Given the description of an element on the screen output the (x, y) to click on. 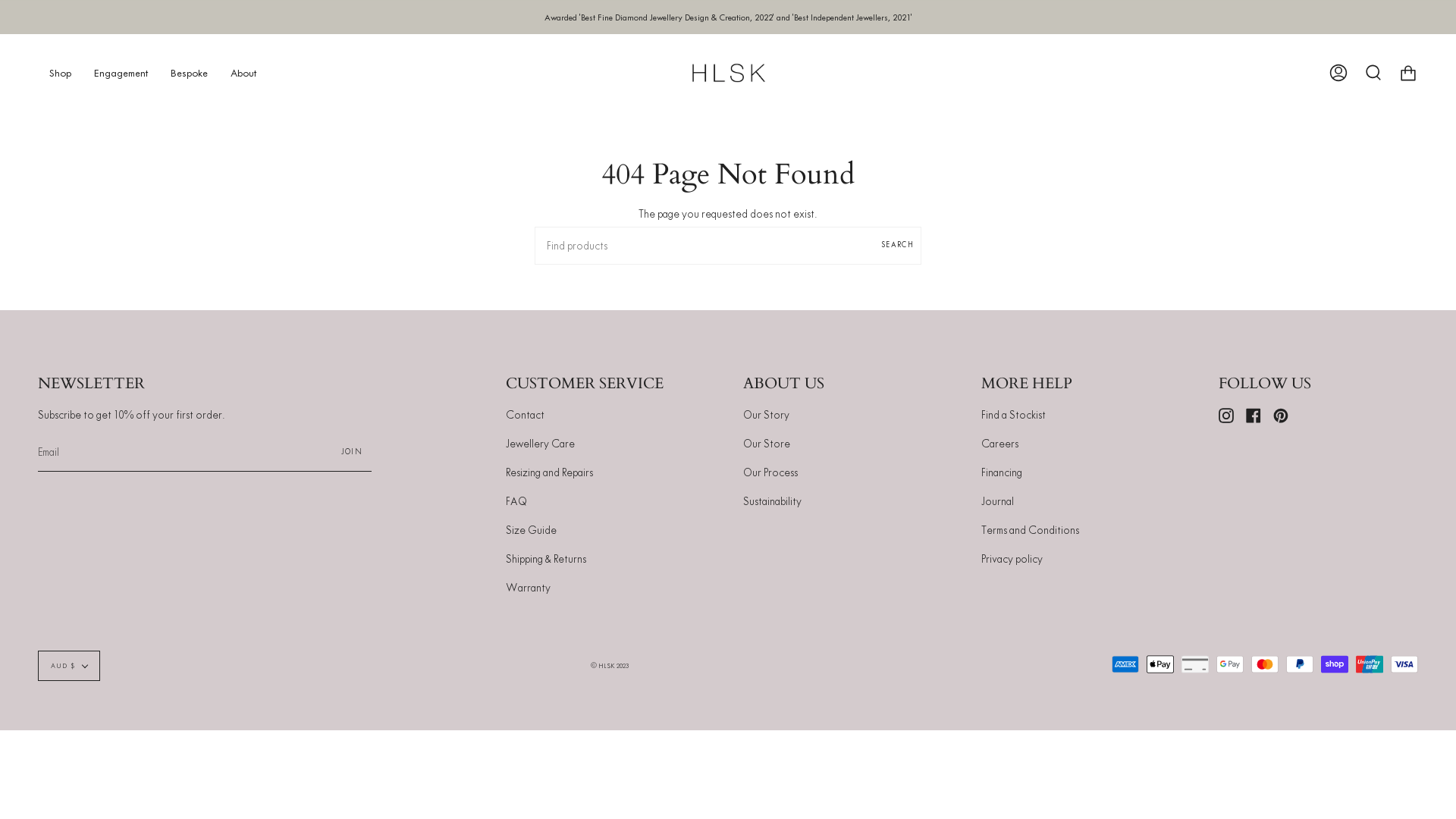
Our Store Element type: text (766, 443)
Terms and Conditions Element type: text (1030, 529)
Bespoke Element type: text (189, 72)
SEARCH Element type: text (897, 245)
Search Element type: text (1372, 72)
Instagram Element type: text (1225, 414)
AUD $ Element type: text (68, 665)
Facebook Element type: text (1253, 414)
Shop Element type: text (59, 72)
Size Guide Element type: text (530, 529)
Contact Element type: text (524, 414)
Our Process Element type: text (770, 472)
Engagement Element type: text (120, 72)
Cart Element type: text (1407, 72)
Financing Element type: text (1001, 472)
Warranty Element type: text (527, 587)
JOIN Element type: text (351, 451)
Journal Element type: text (997, 501)
Pinterest Element type: text (1280, 414)
Shipping & Returns Element type: text (545, 558)
Resizing and Repairs Element type: text (549, 472)
FAQ Element type: text (516, 501)
Careers Element type: text (999, 443)
Our Story Element type: text (766, 414)
Find a Stockist Element type: text (1013, 414)
Sustainability Element type: text (772, 501)
About Element type: text (243, 72)
Account Element type: text (1338, 72)
Jewellery Care Element type: text (539, 443)
Privacy policy Element type: text (1011, 558)
